Given the description of an element on the screen output the (x, y) to click on. 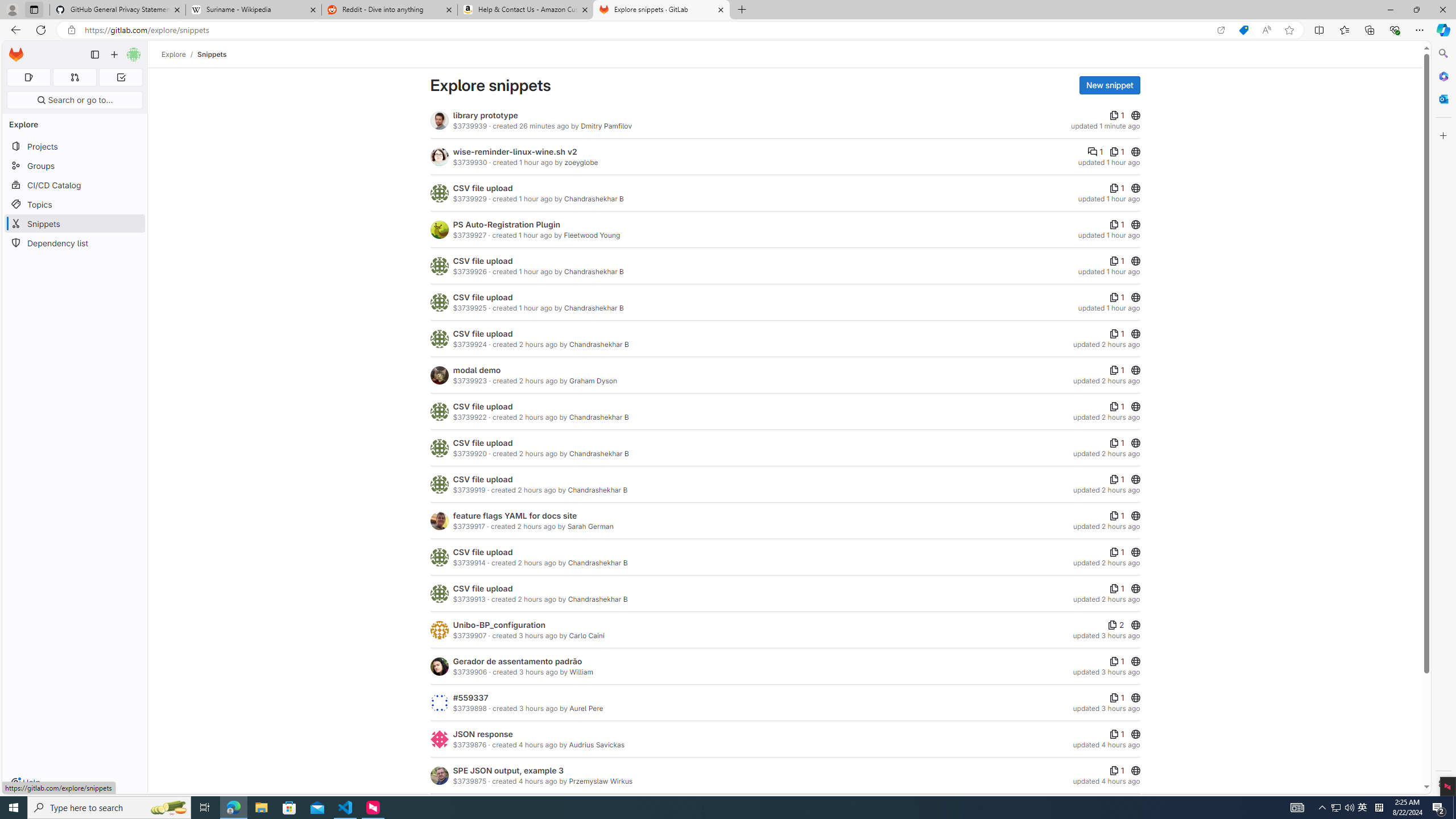
To-Do list 0 (120, 76)
#559337 (470, 697)
Assigned issues 0 (28, 76)
SPE JSON output, example 3 (508, 770)
Groups (74, 165)
wise-reminder-linux-wine.sh v2 (514, 151)
CSV file upload (482, 588)
